Given the description of an element on the screen output the (x, y) to click on. 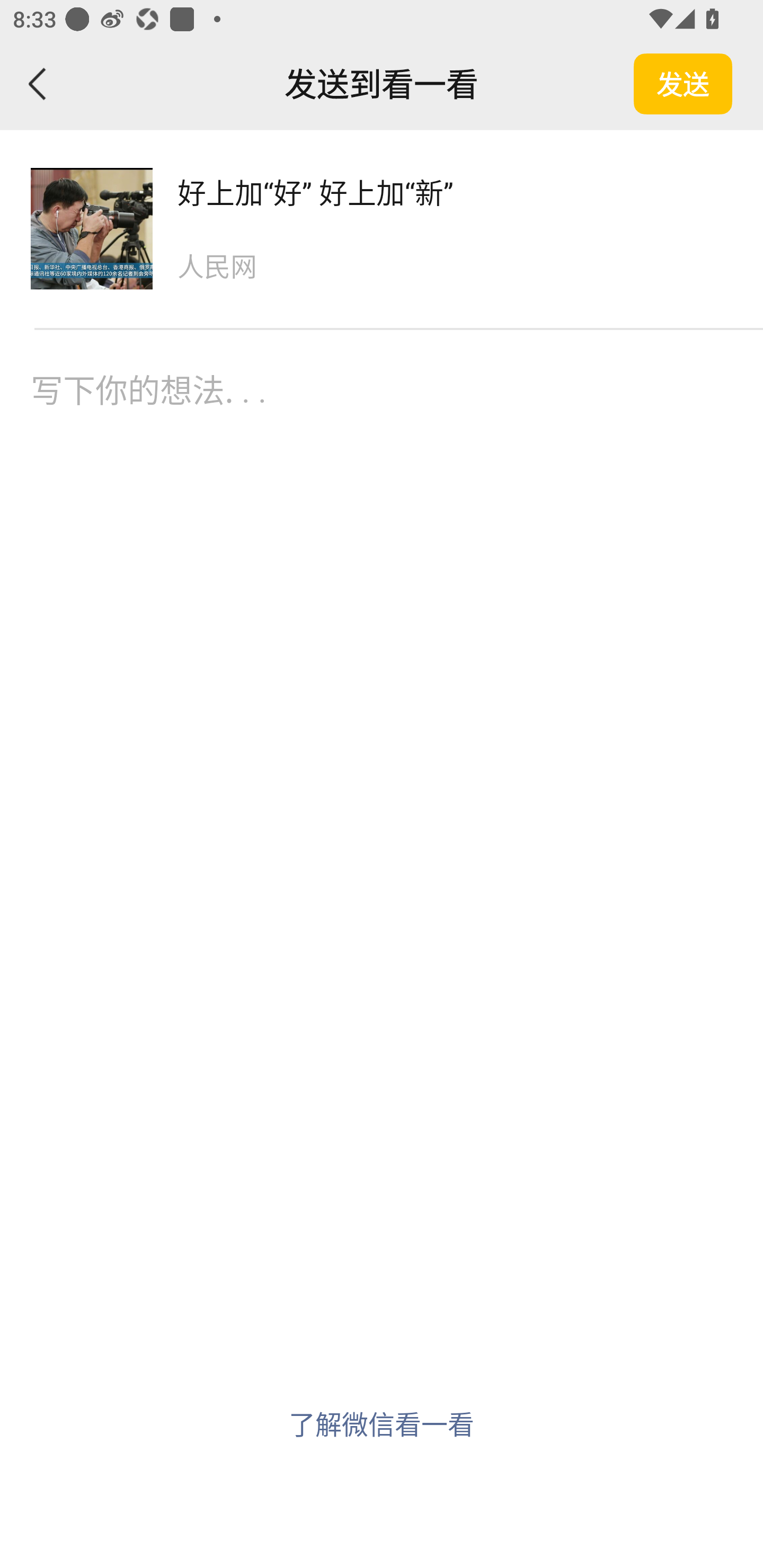
返回按钮 (38, 83)
发送 (683, 83)
写下你的想法. . . (381, 433)
了解微信看一看 (381, 1422)
